Given the description of an element on the screen output the (x, y) to click on. 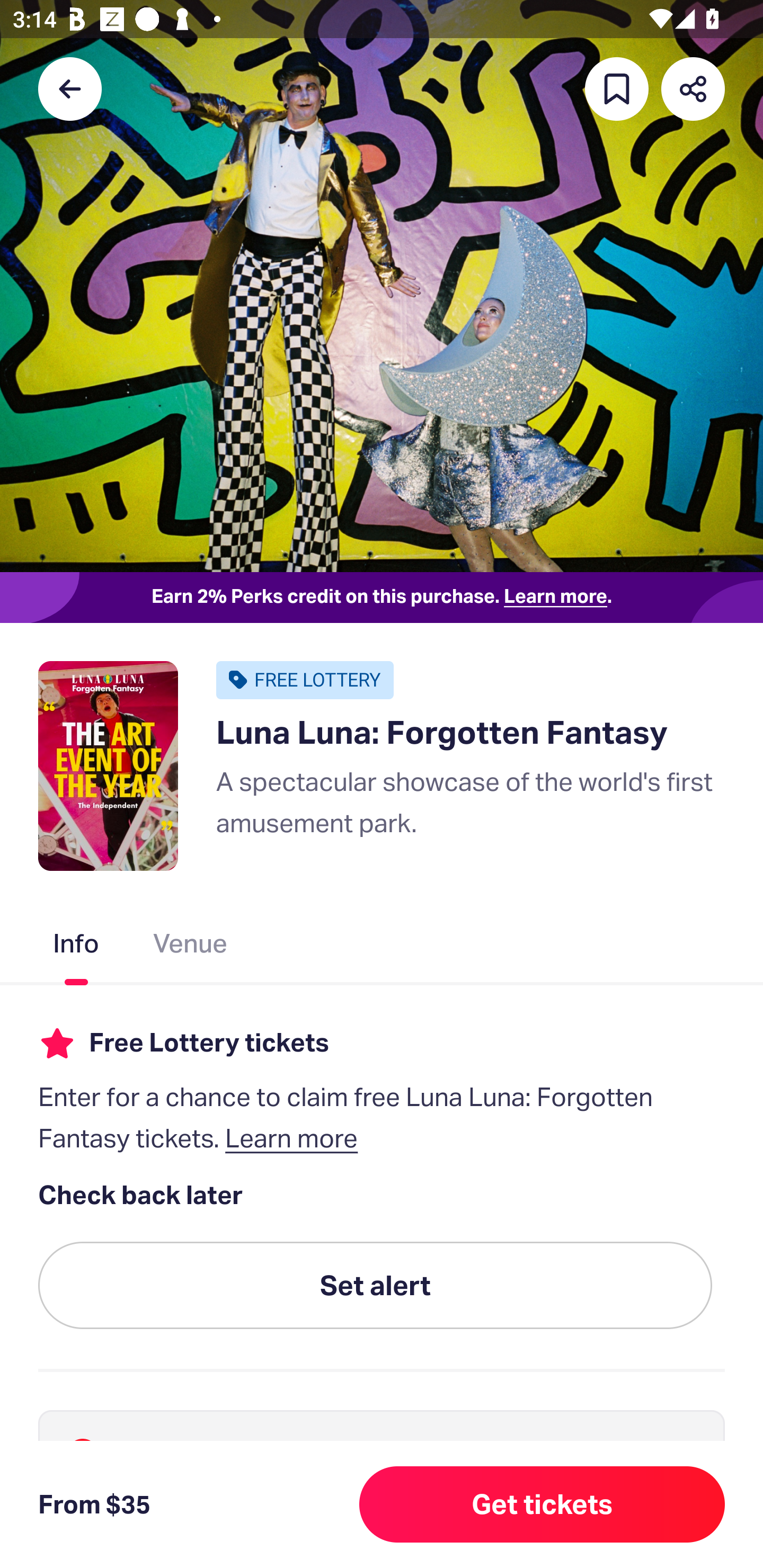
Earn 2% Perks credit on this purchase. Learn more. (381, 597)
Venue (190, 946)
Set alert (374, 1286)
Get tickets (541, 1504)
